Given the description of an element on the screen output the (x, y) to click on. 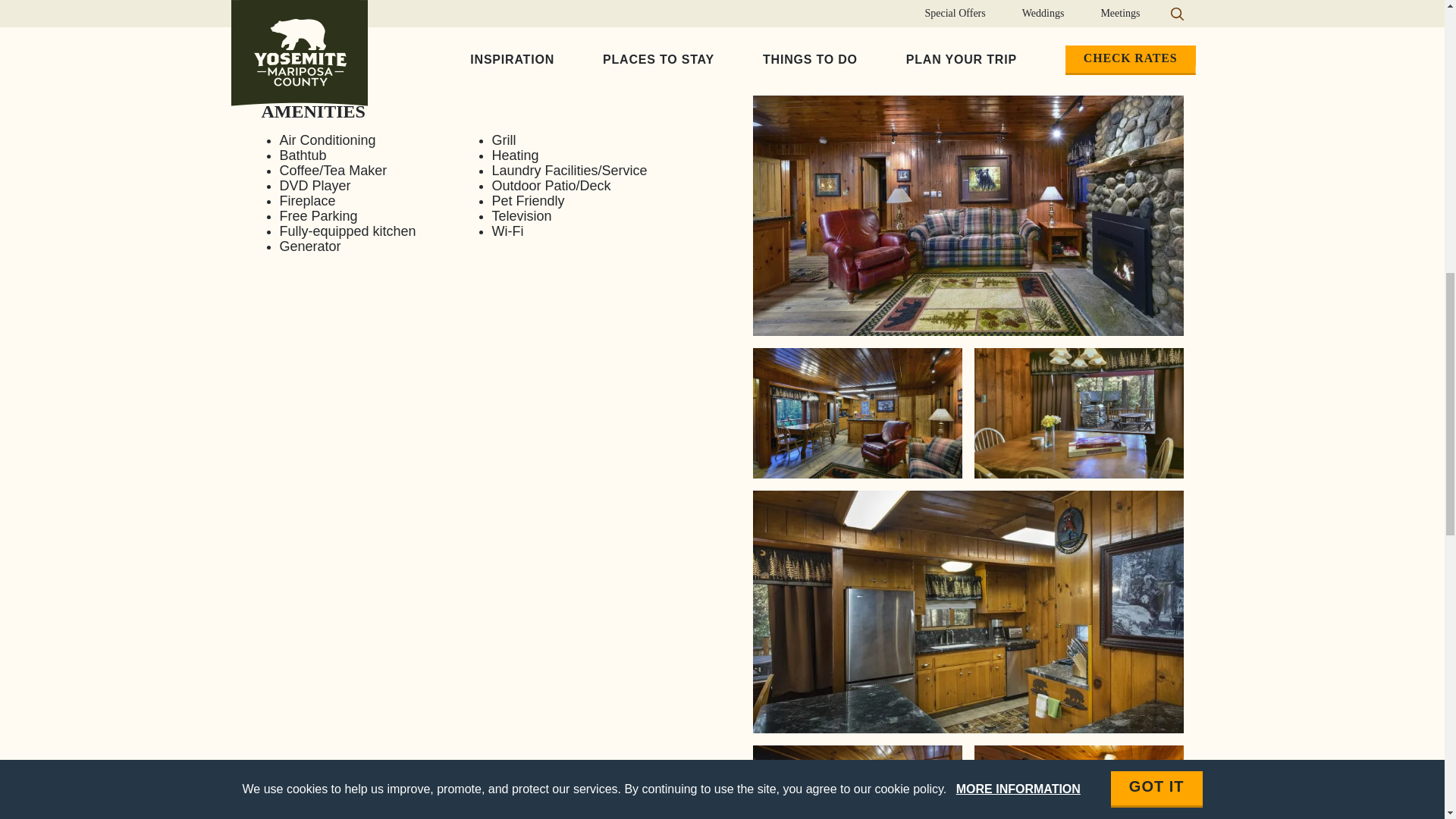
Google Maps (475, 388)
